Given the description of an element on the screen output the (x, y) to click on. 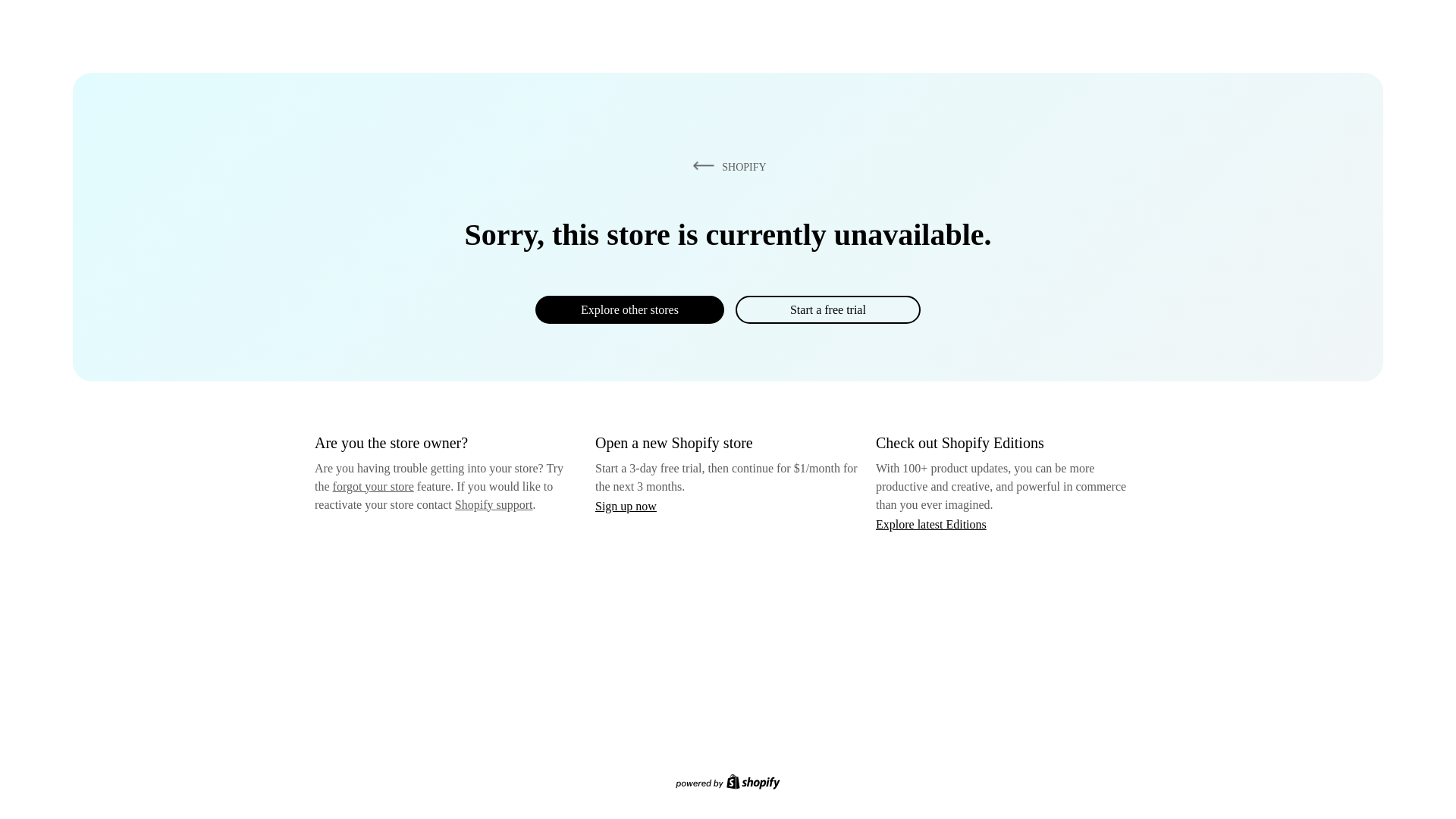
Explore latest Editions (931, 523)
Shopify support (493, 504)
Sign up now (625, 505)
forgot your store (373, 486)
Start a free trial (827, 309)
SHOPIFY (726, 166)
Explore other stores (629, 309)
